Given the description of an element on the screen output the (x, y) to click on. 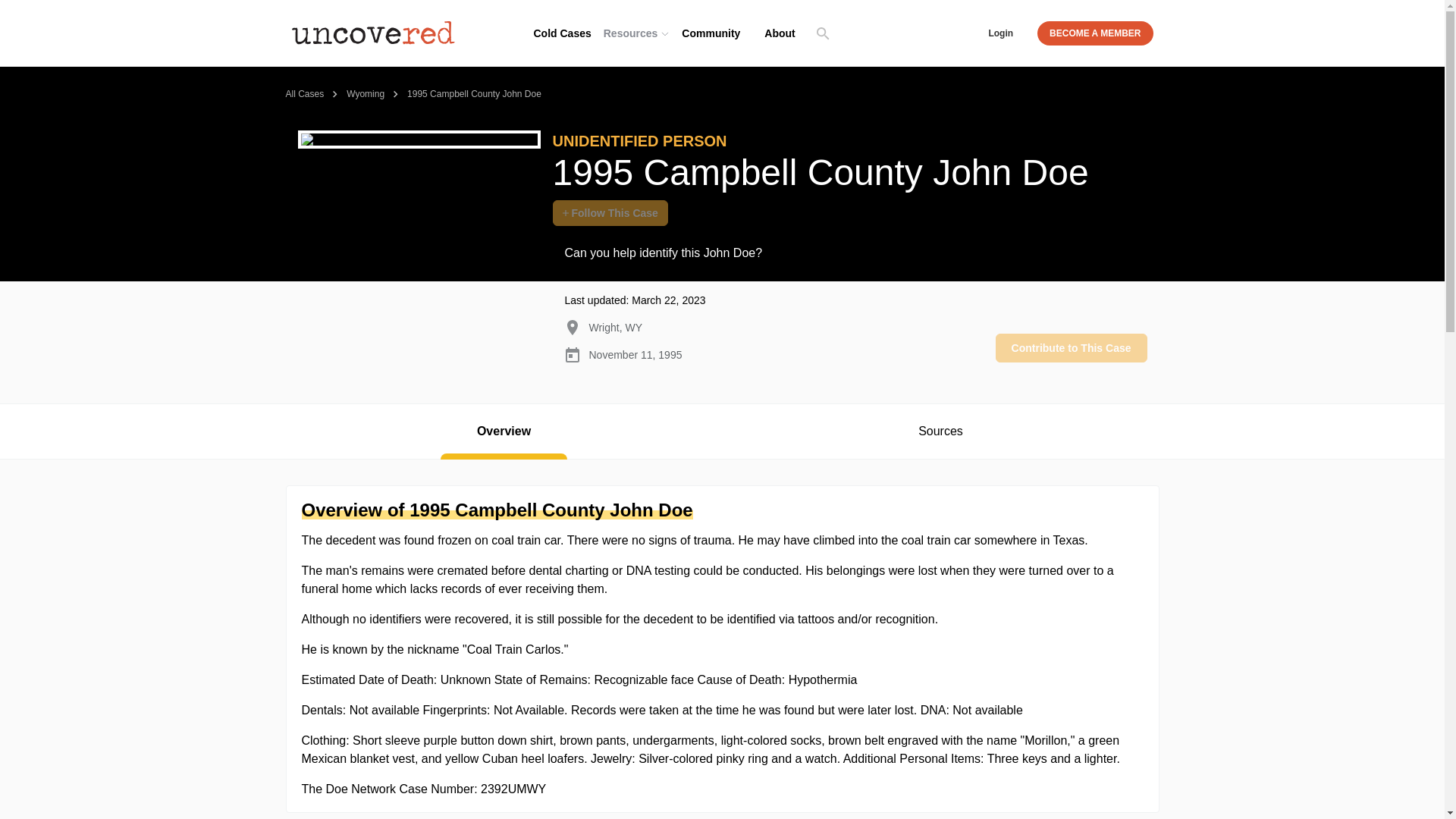
Login (1000, 33)
Sources (940, 431)
BECOME A MEMBER (1094, 33)
Overview (503, 431)
1995 Campbell County John Doe (474, 93)
About (779, 33)
Contribute to This Case (1071, 347)
Follow This Case (608, 212)
Wyoming (365, 93)
Community (710, 33)
